Given the description of an element on the screen output the (x, y) to click on. 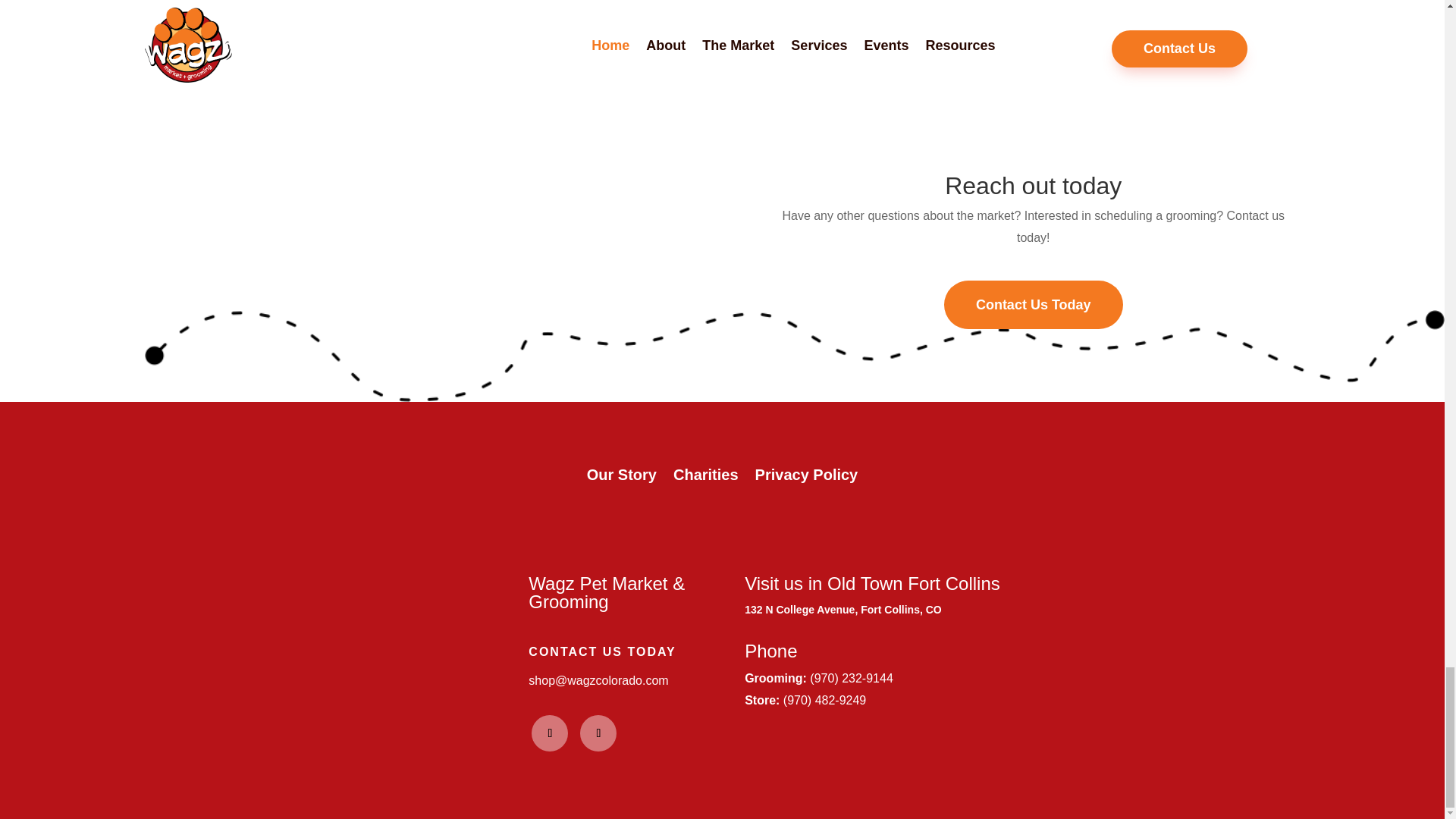
Our Story (621, 477)
Charities (705, 477)
Contact Us Today (1032, 305)
Privacy Policy (807, 477)
